Given the description of an element on the screen output the (x, y) to click on. 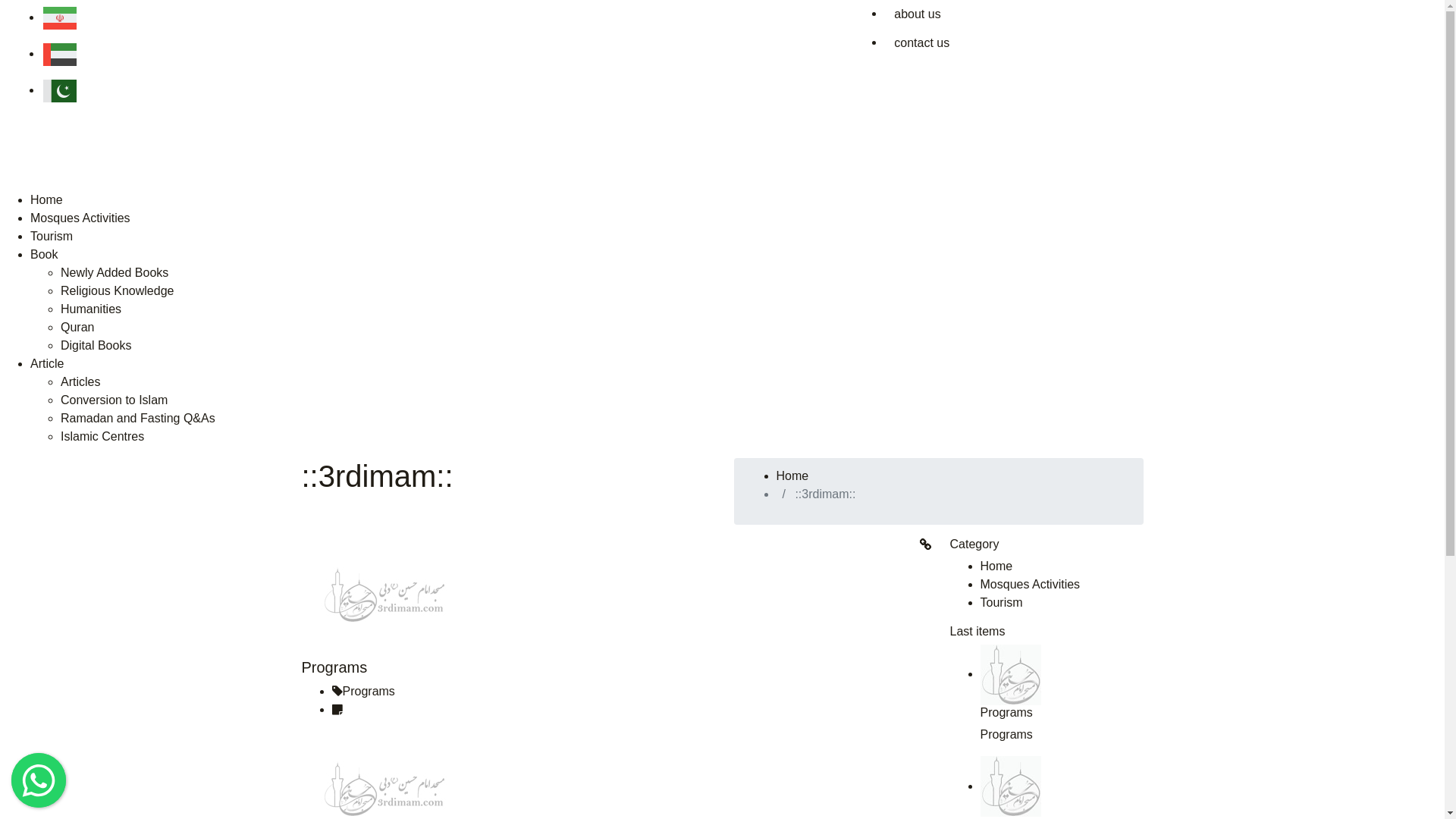
contact us Element type: text (921, 42)
Programs Element type: text (1005, 712)
Home Element type: text (46, 199)
Programs Element type: text (334, 666)
Home Element type: text (995, 565)
Islamic Centres Element type: text (102, 435)
Mosques Activities Element type: text (1029, 583)
Book Element type: text (43, 253)
Digital Books Element type: text (95, 344)
Humanities Element type: text (90, 308)
Quran Element type: text (77, 326)
Article Element type: text (46, 363)
Conversion to Islam Element type: text (113, 399)
Mosques Activities Element type: text (80, 217)
Religious Knowledge Element type: text (116, 290)
Home Element type: text (792, 475)
Ramadan and Fasting Q&As Element type: text (137, 417)
Tourism Element type: text (51, 235)
Tourism Element type: text (1000, 602)
Newly Added Books Element type: text (114, 272)
about us Element type: text (917, 14)
Articles Element type: text (80, 381)
